Given the description of an element on the screen output the (x, y) to click on. 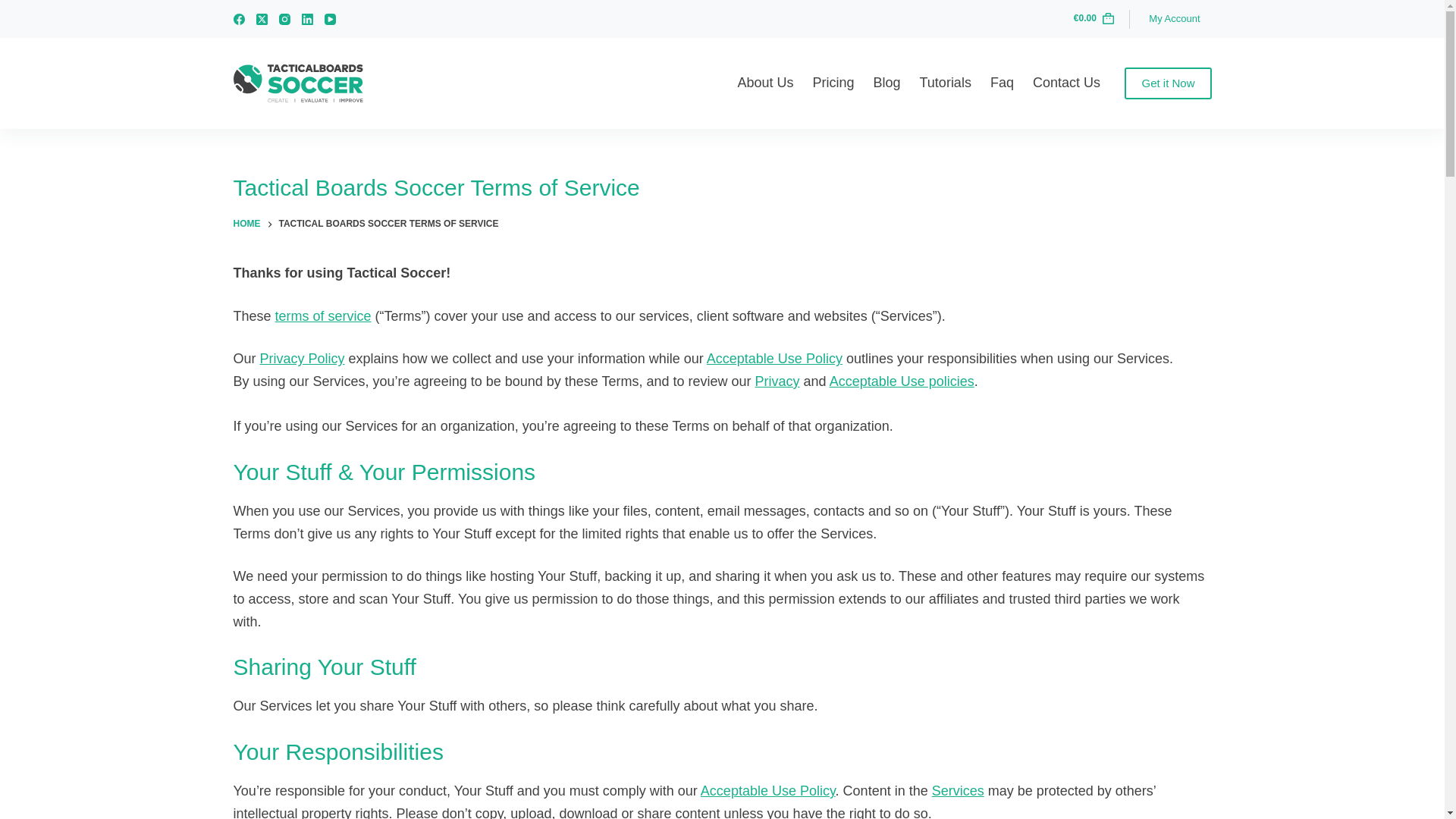
Acceptable Use Policy (774, 358)
terms of service (323, 315)
My Account (1174, 18)
Acceptable Use policies (901, 381)
Contact Us (1066, 82)
Get it Now (1167, 83)
Privacy (777, 381)
Skip to content (15, 7)
Tactical Boards Soccer Terms of Service (721, 187)
Privacy Policy (302, 358)
HOME (246, 224)
